Given the description of an element on the screen output the (x, y) to click on. 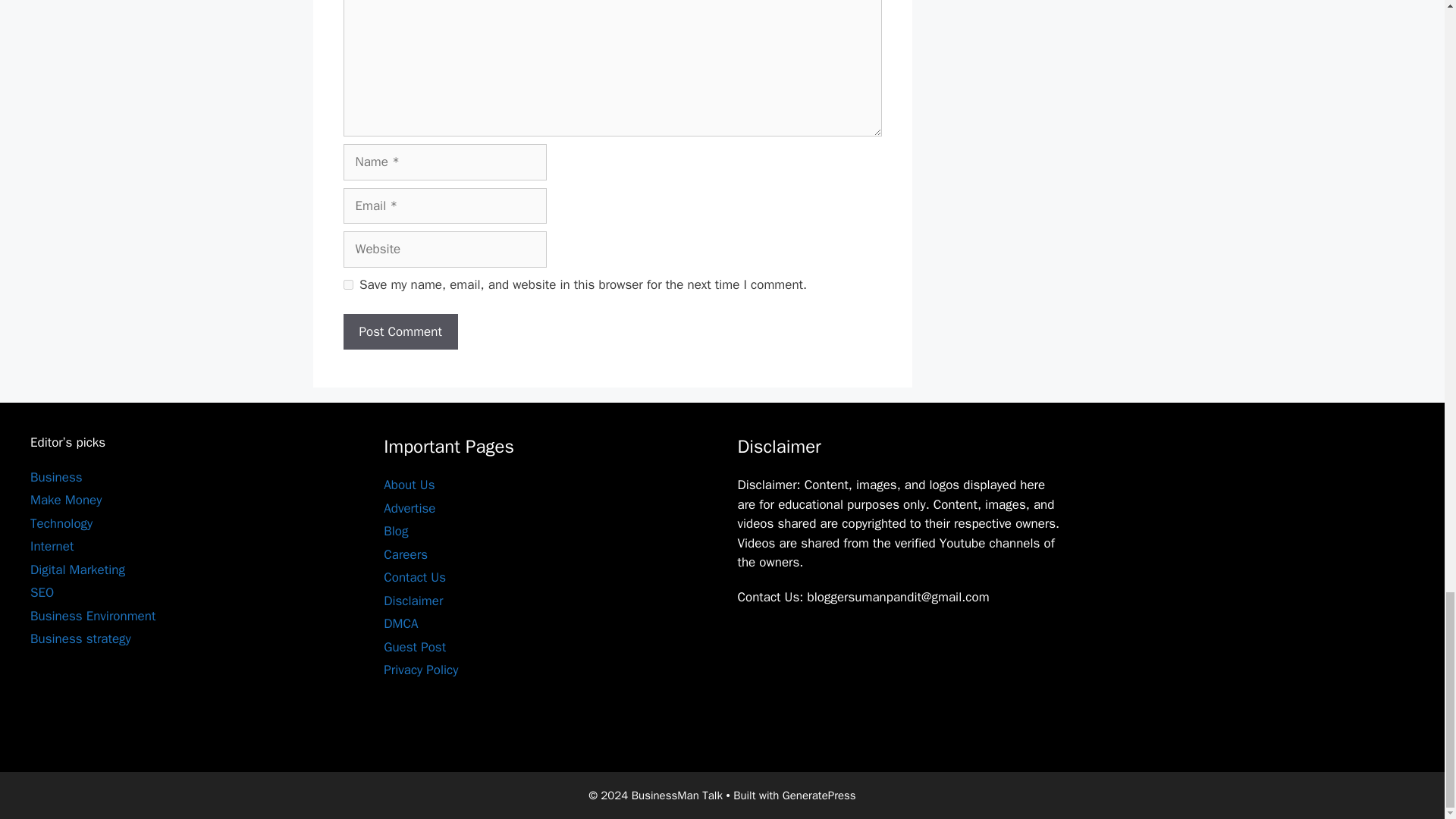
Post Comment (399, 331)
DMCA.com Protection Status (849, 731)
yes (347, 284)
Post Comment (399, 331)
